Given the description of an element on the screen output the (x, y) to click on. 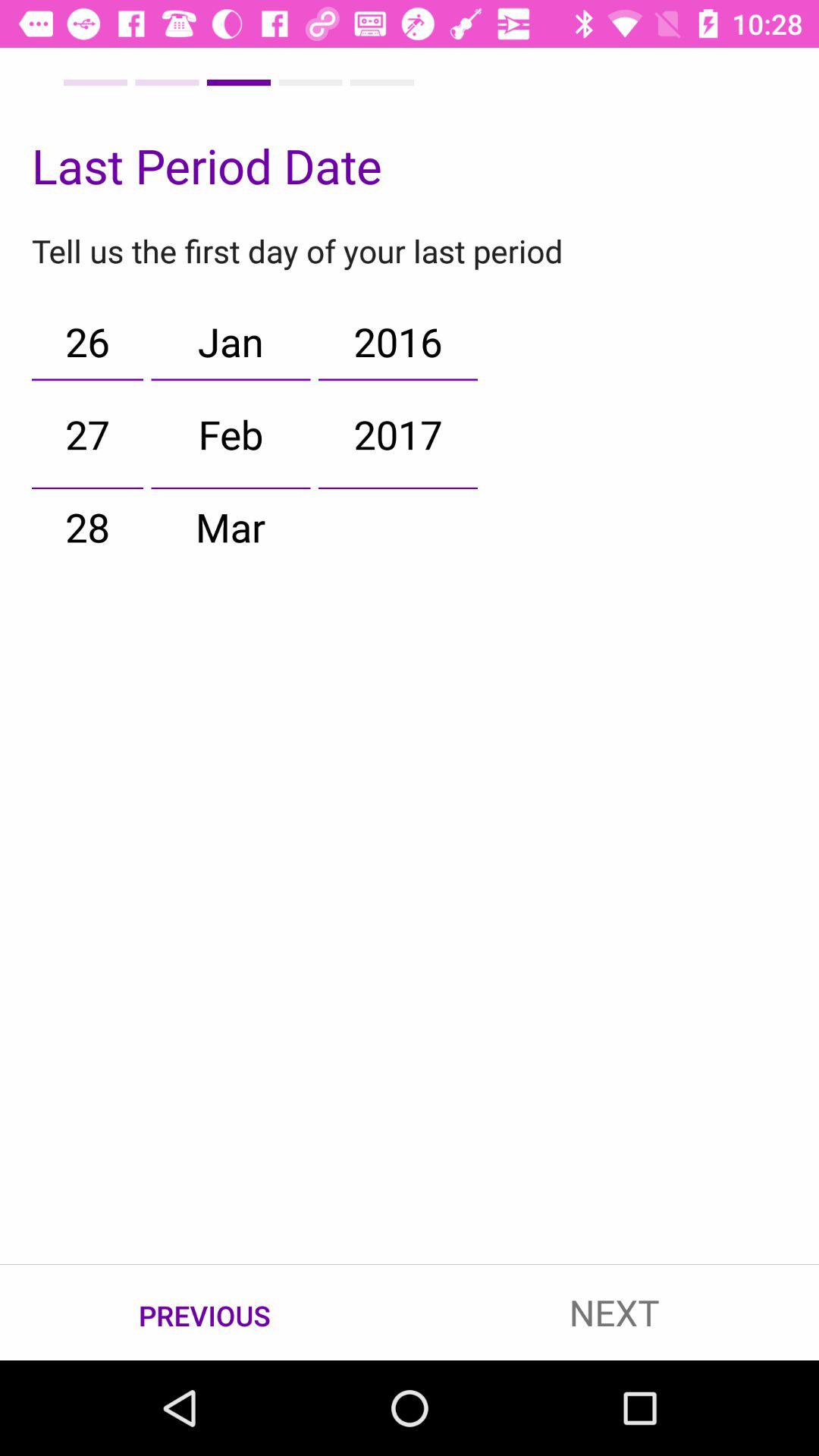
jump until previous item (204, 1313)
